Given the description of an element on the screen output the (x, y) to click on. 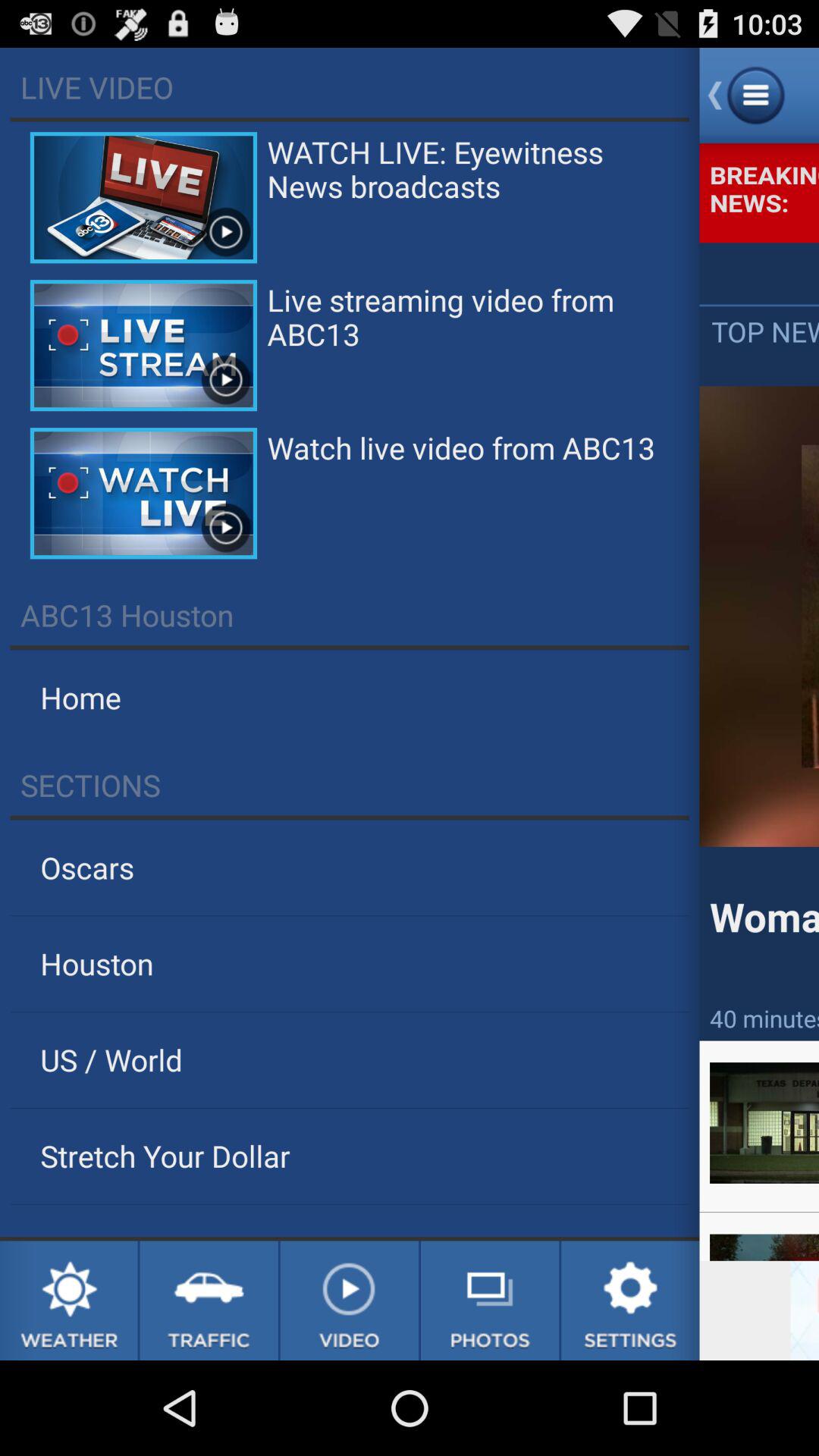
switch tab (208, 1300)
